Given the description of an element on the screen output the (x, y) to click on. 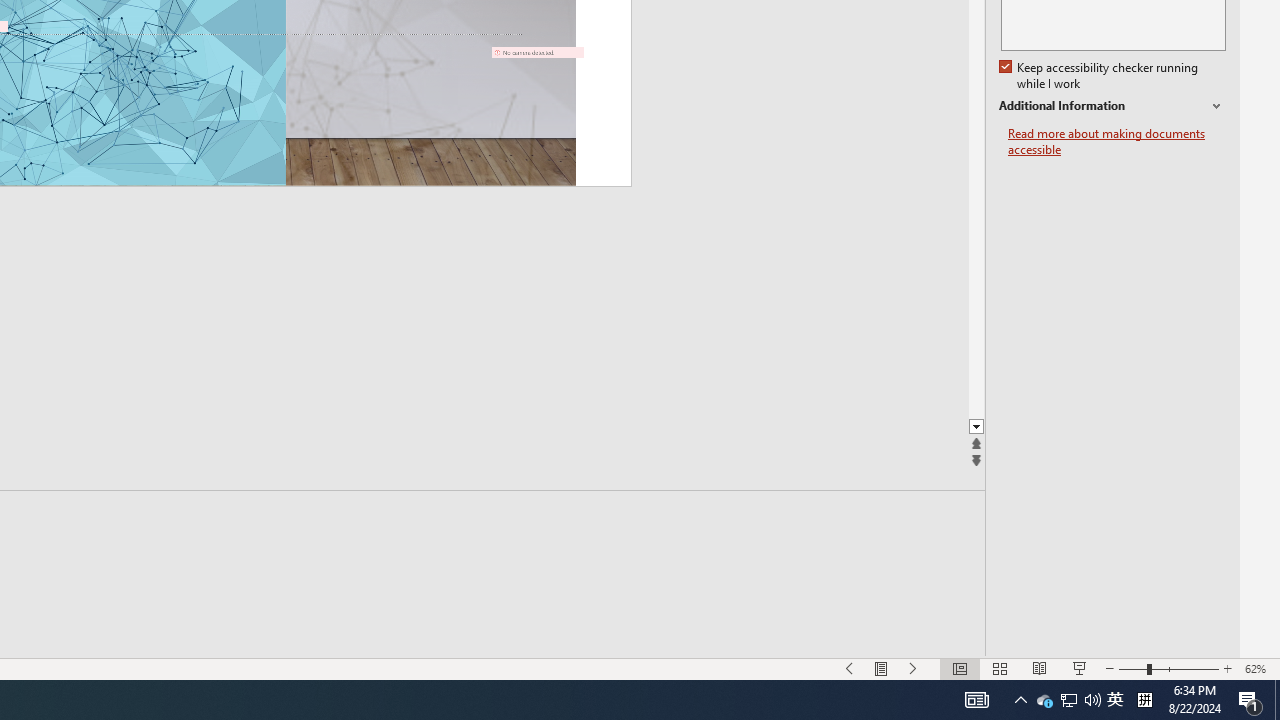
Menu On (882, 668)
Slide Show Previous On (850, 668)
Zoom 62% (1258, 668)
Slide Show Next On (914, 668)
